Given the description of an element on the screen output the (x, y) to click on. 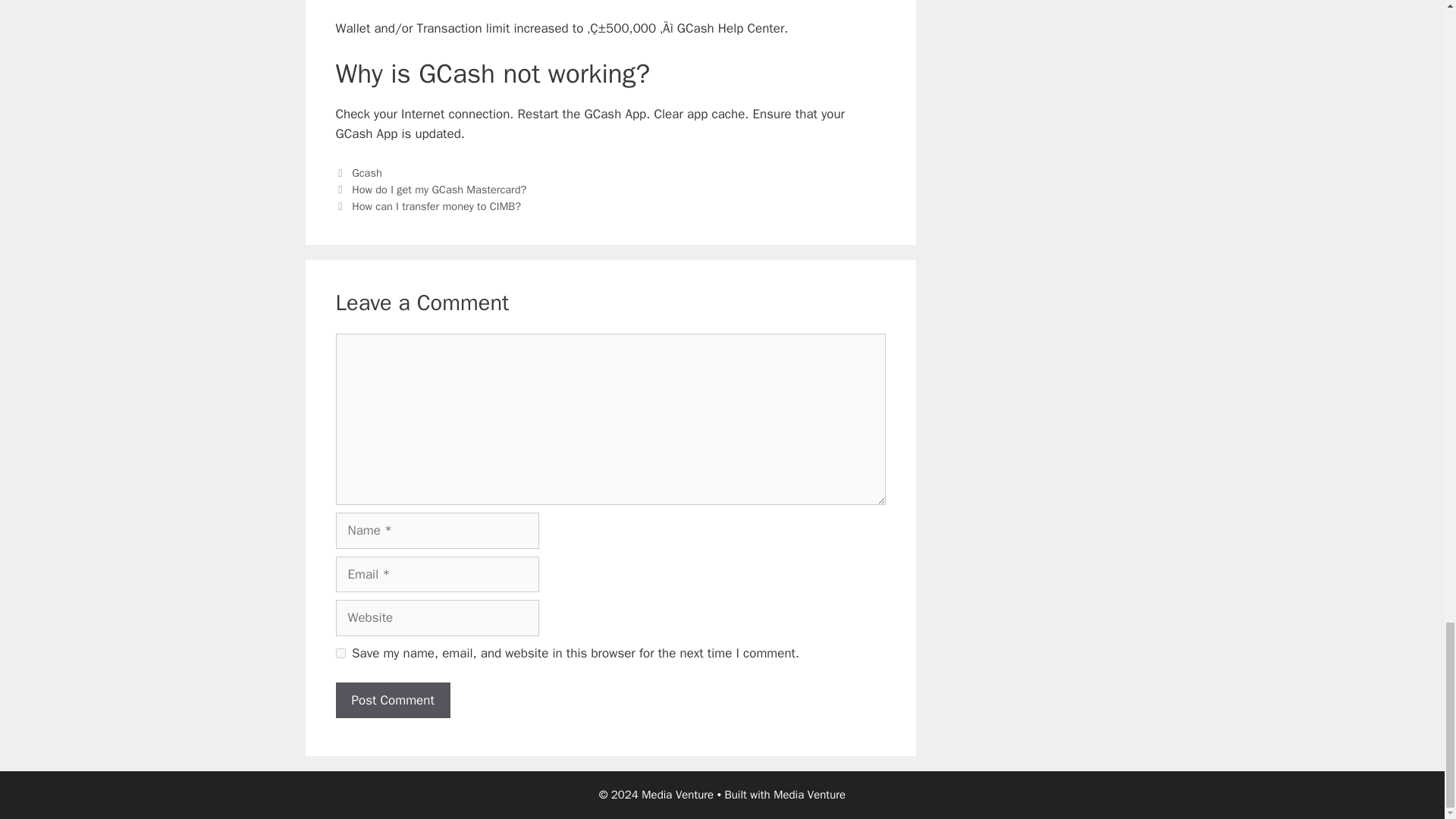
yes (339, 653)
How can I transfer money to CIMB? (436, 205)
How do I get my GCash Mastercard? (438, 189)
Post Comment (391, 699)
Post Comment (391, 699)
Gcash (366, 172)
Media Venture (809, 794)
